Given the description of an element on the screen output the (x, y) to click on. 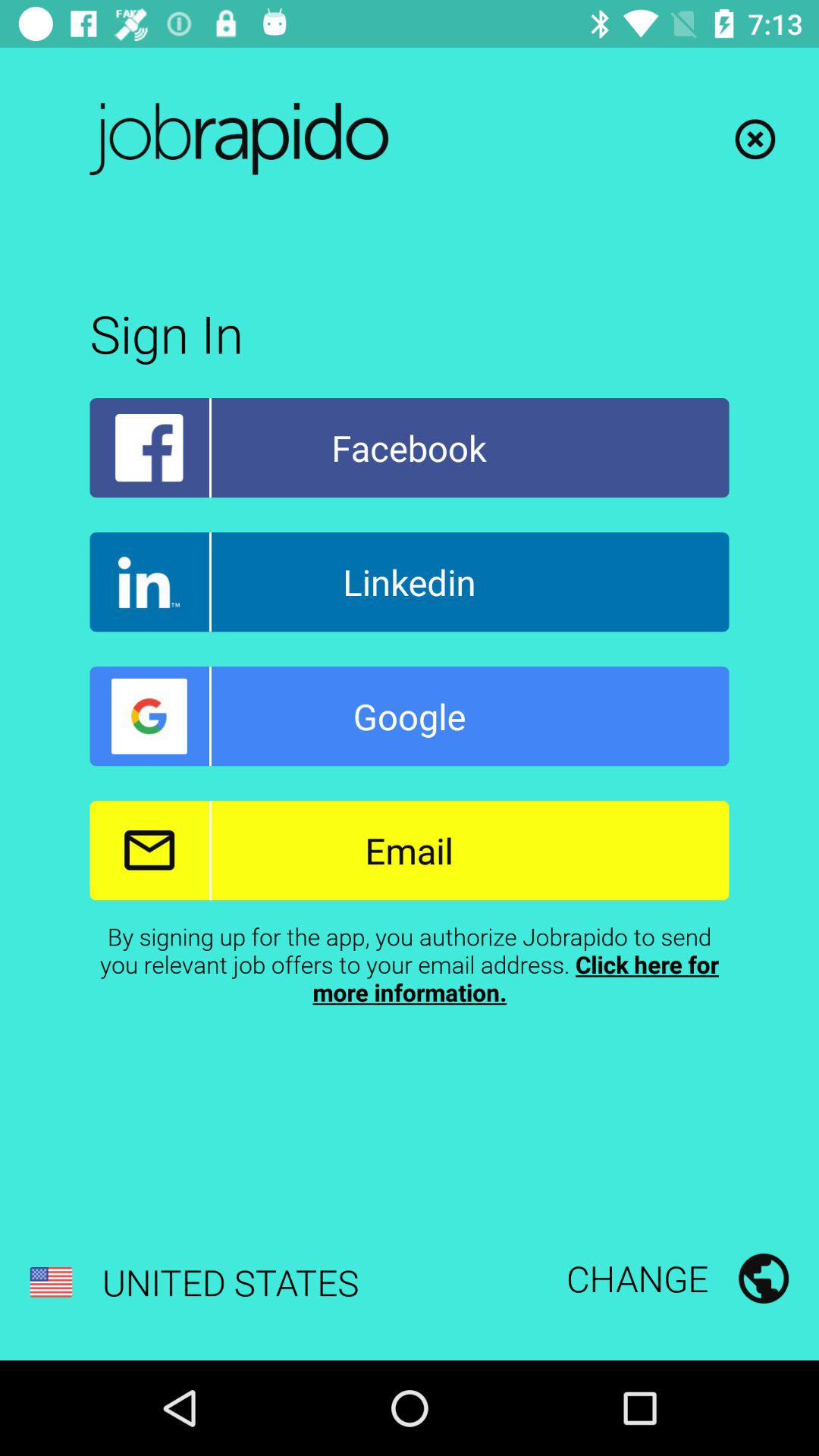
tap the icon next to united states (677, 1278)
